Given the description of an element on the screen output the (x, y) to click on. 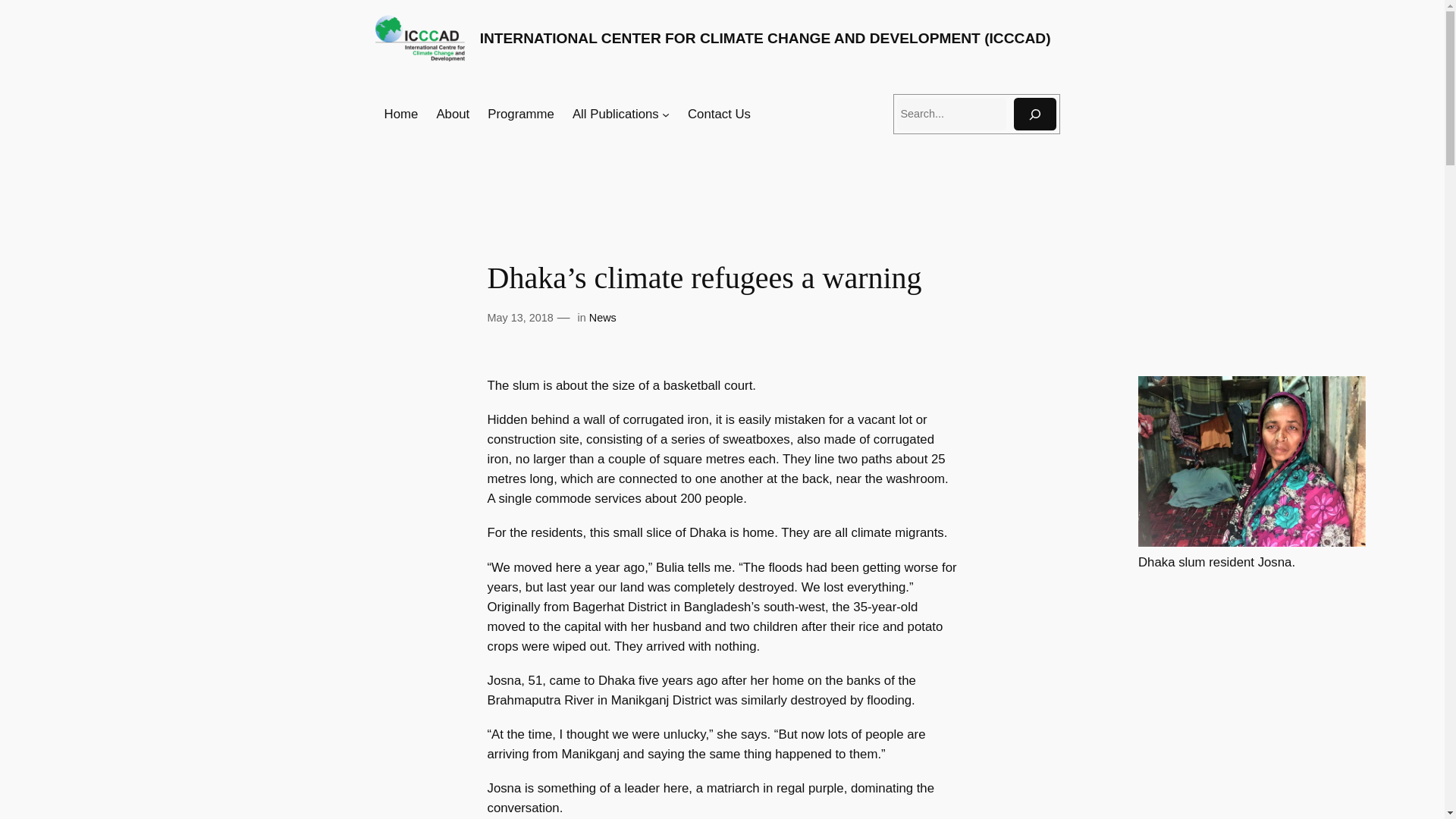
May 13, 2018 (519, 317)
News (602, 317)
About (451, 114)
Programme (520, 114)
Home (401, 114)
Contact Us (719, 114)
All Publications (615, 114)
